Given the description of an element on the screen output the (x, y) to click on. 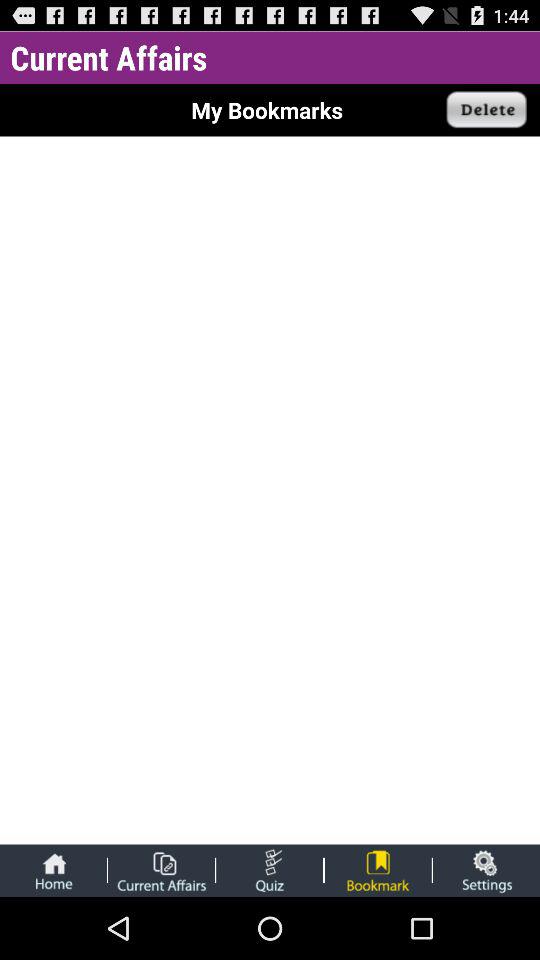
home button (53, 870)
